Given the description of an element on the screen output the (x, y) to click on. 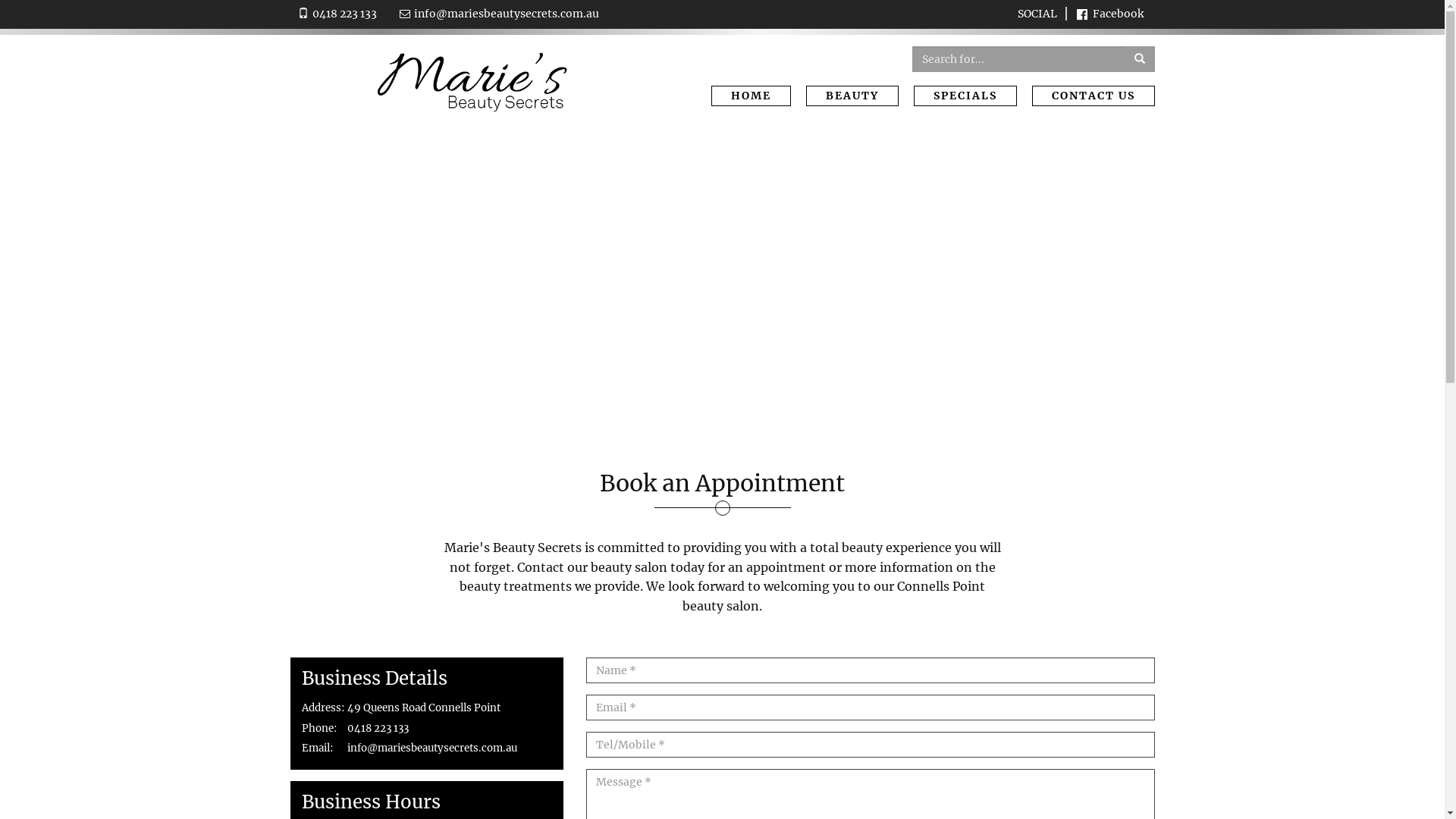
CONTACT US Element type: text (1092, 95)
SPECIALS Element type: text (964, 95)
BEAUTY Element type: text (851, 95)
Facebook Element type: text (1109, 14)
HOME Element type: text (750, 95)
info@mariesbeautysecrets.com.au Element type: text (506, 13)
